Given the description of an element on the screen output the (x, y) to click on. 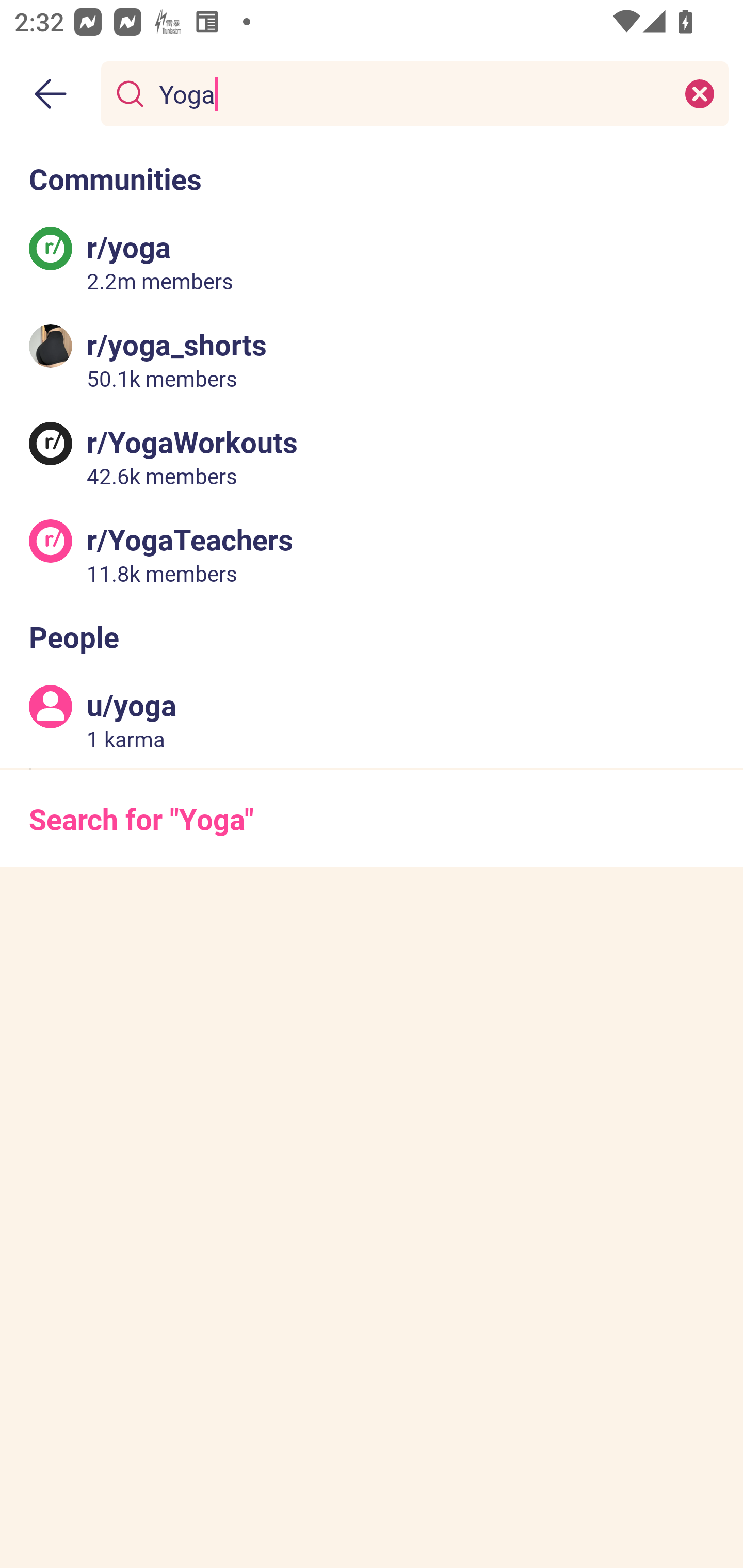
Back (50, 93)
Yoga (410, 93)
Clear search (699, 93)
r/yoga 2.2m members 2.2 million members (371, 261)
r/yoga_shorts 50.1k members 50.1 thousand members (371, 358)
r/YogaWorkouts 42.6k members 42.6 thousand members (371, 455)
r/YogaTeachers 11.8k members 11.8 thousand members (371, 553)
u/yoga 1 karma 1 karma (371, 719)
Search for "Yoga" (371, 818)
